Given the description of an element on the screen output the (x, y) to click on. 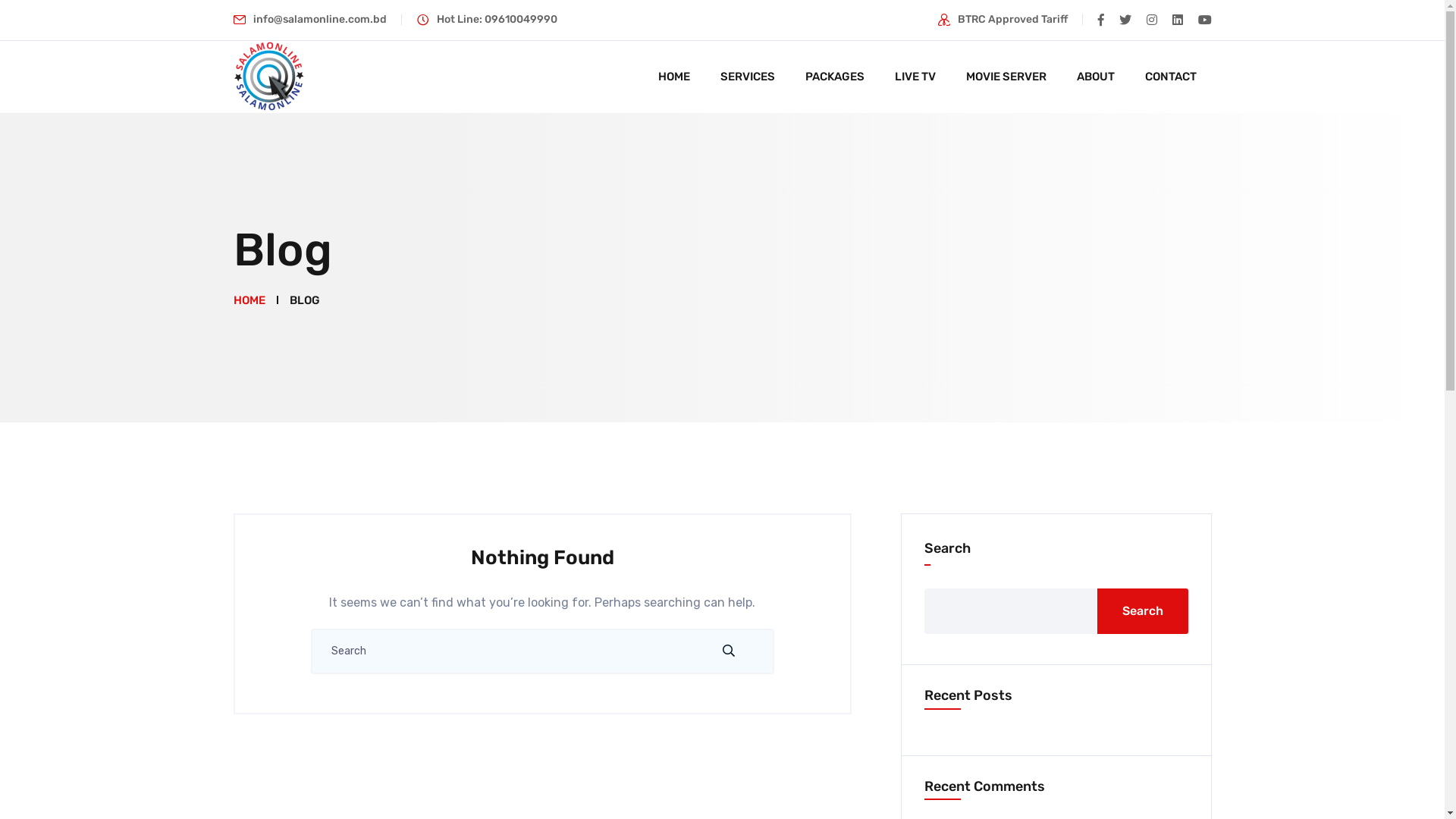
PACKAGES Element type: text (834, 76)
SERVICES Element type: text (747, 76)
HOME Element type: text (674, 76)
CONTACT Element type: text (1170, 76)
HOME Element type: text (249, 299)
LIVE TV Element type: text (914, 76)
BTRC Approved Tariff Element type: text (1011, 19)
MOVIE SERVER Element type: text (1005, 76)
Search Element type: text (1141, 610)
ABOUT Element type: text (1095, 76)
